Given the description of an element on the screen output the (x, y) to click on. 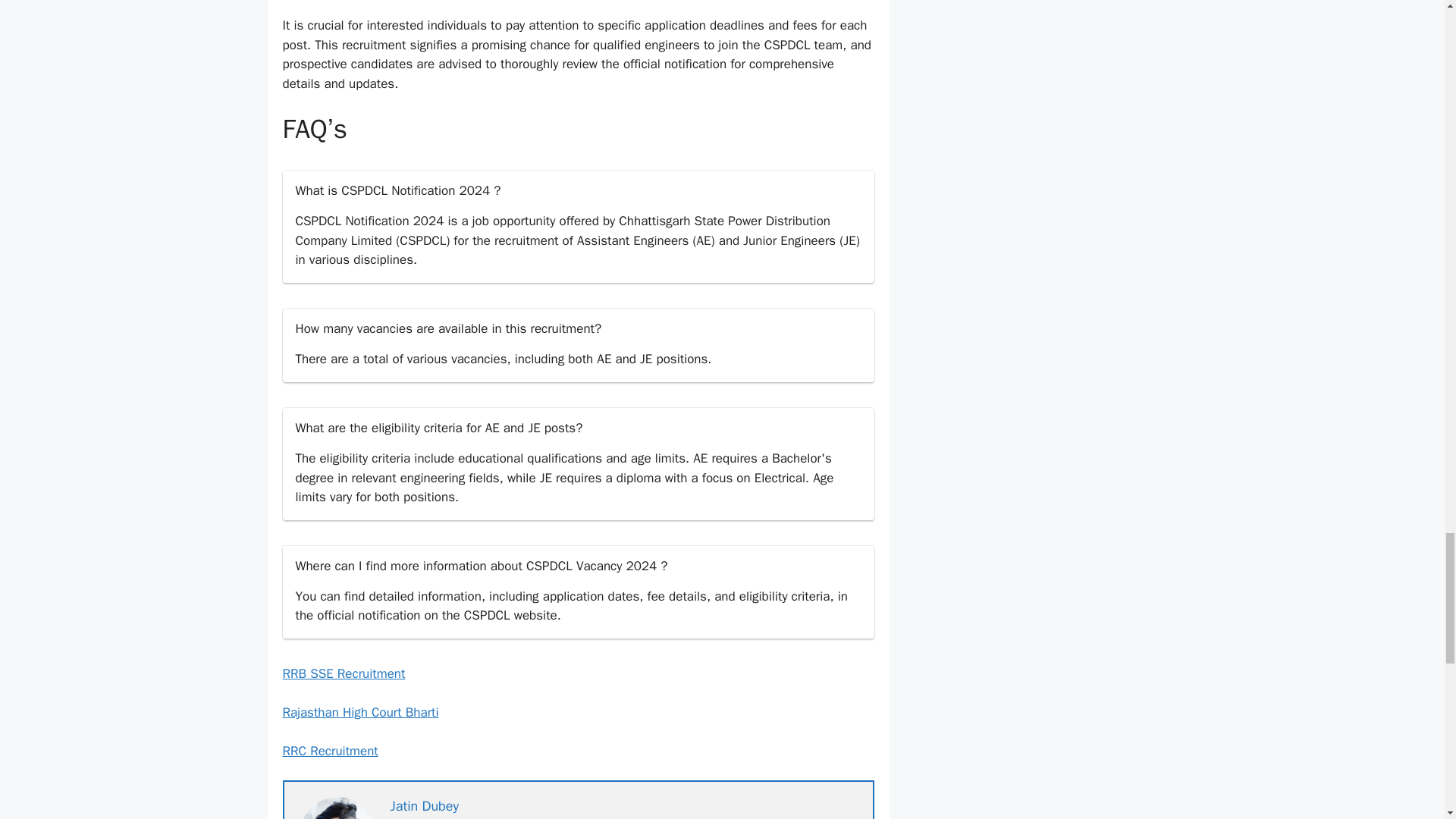
RRB SSE Recruitment (343, 673)
Jatin Dubey (424, 805)
Rajasthan High Court Bharti (360, 712)
RRC Recruitment (329, 750)
